Given the description of an element on the screen output the (x, y) to click on. 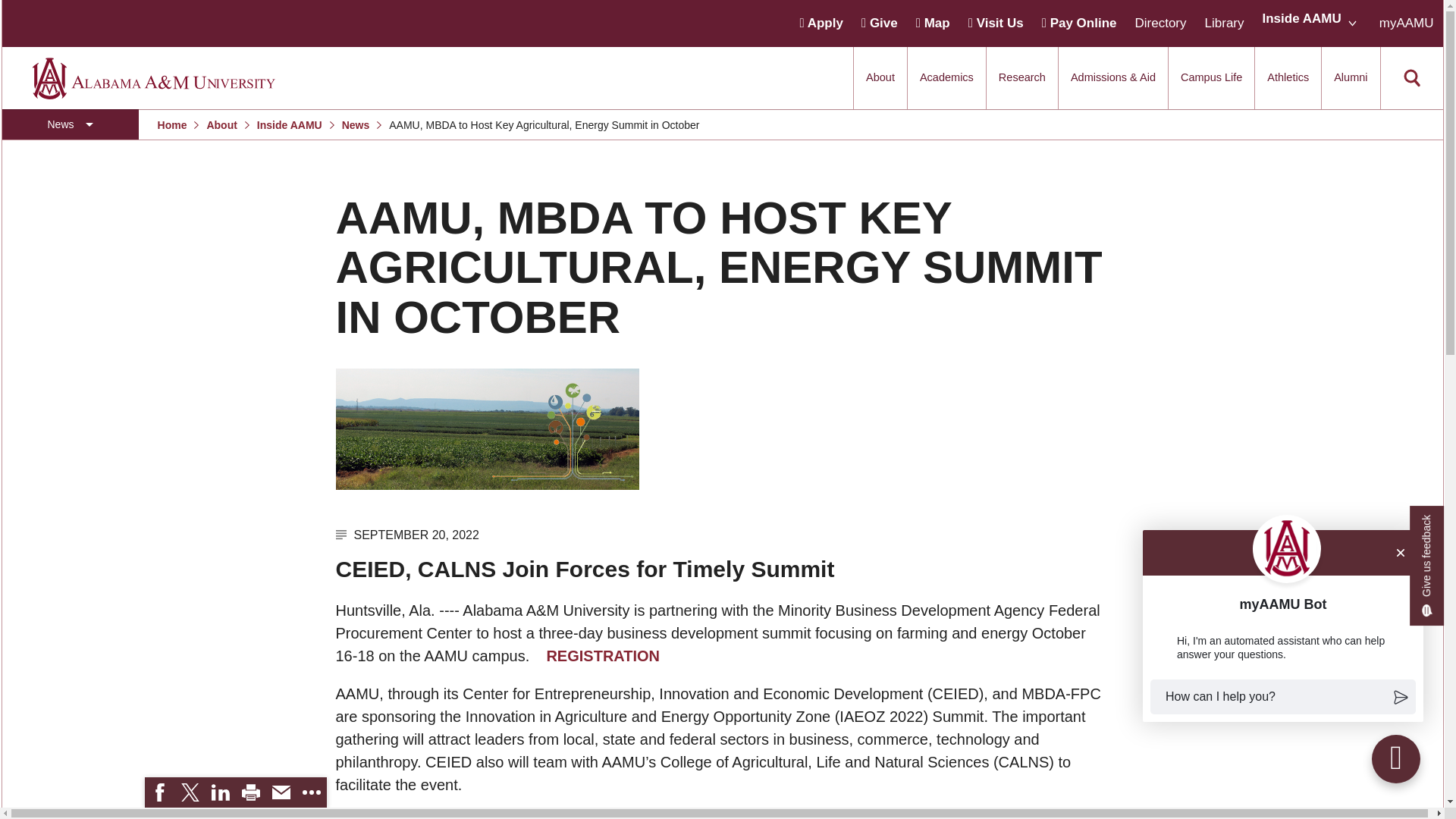
Directory (1160, 22)
Share this link on X (189, 792)
Visit Us (995, 22)
About (880, 77)
Athletics (1287, 77)
Toggle Inside AAMU menu section (1311, 23)
Share this link on Linkedin (219, 792)
Share this link on Facebook (159, 792)
Give (879, 22)
Map (932, 22)
Inside AAMU (1301, 18)
myAAMU (1406, 22)
Academics (946, 77)
Research (1022, 77)
News (69, 123)
